Given the description of an element on the screen output the (x, y) to click on. 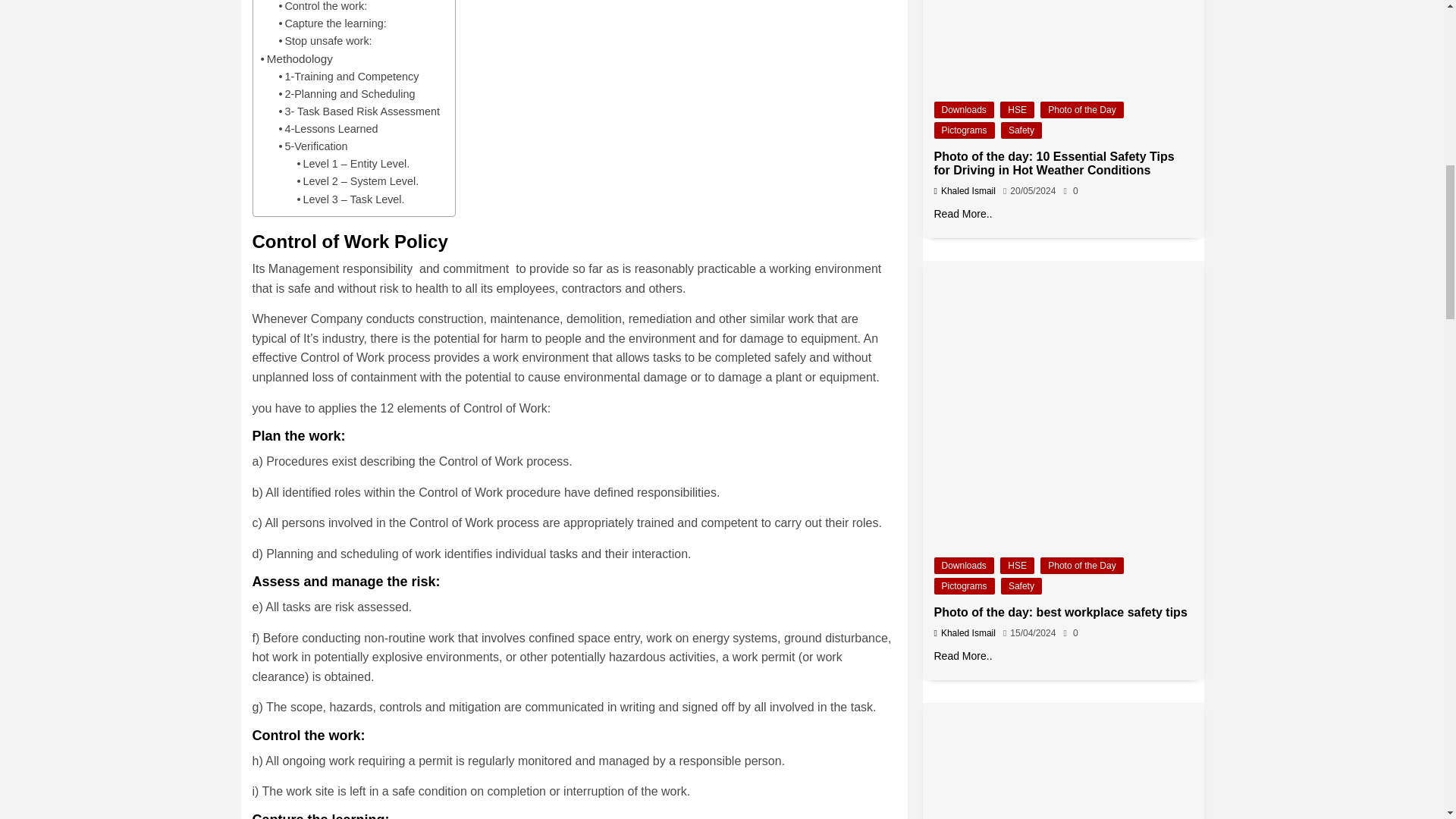
4-Lessons Learned (328, 129)
Control the work: (323, 7)
Stop unsafe work: (325, 40)
1-Training and Competency (349, 76)
Methodology (296, 58)
Capture the learning: (333, 23)
2-Planning and Scheduling (346, 94)
5-Verification (313, 146)
